Given the description of an element on the screen output the (x, y) to click on. 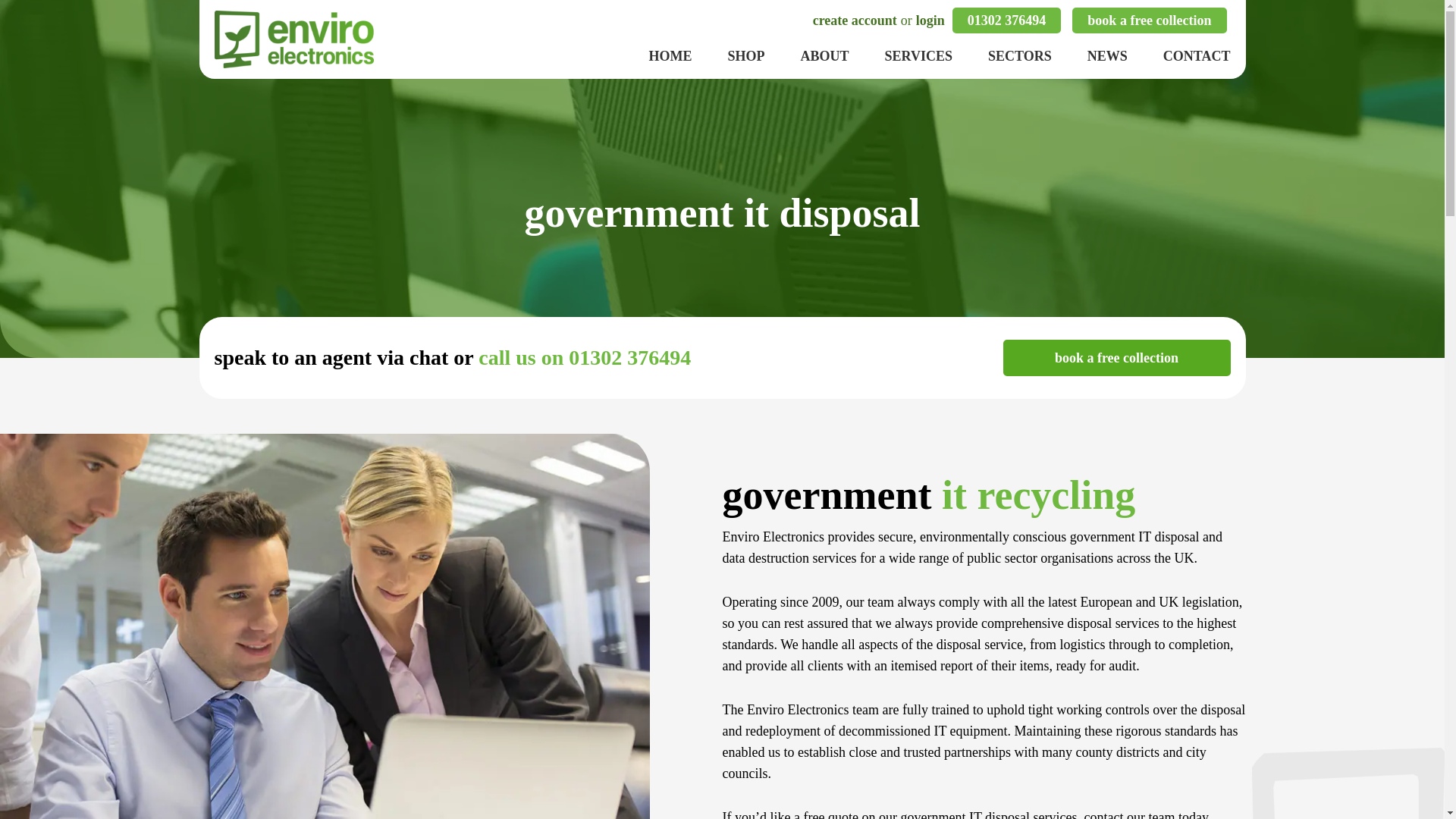
ABOUT (824, 55)
CONTACT (1196, 55)
SHOP (746, 55)
book a free collection (1148, 20)
login (929, 20)
01302 376494 (1006, 20)
SERVICES (918, 55)
NEWS (1106, 55)
HOME (671, 55)
book a free collection (1116, 357)
